Given the description of an element on the screen output the (x, y) to click on. 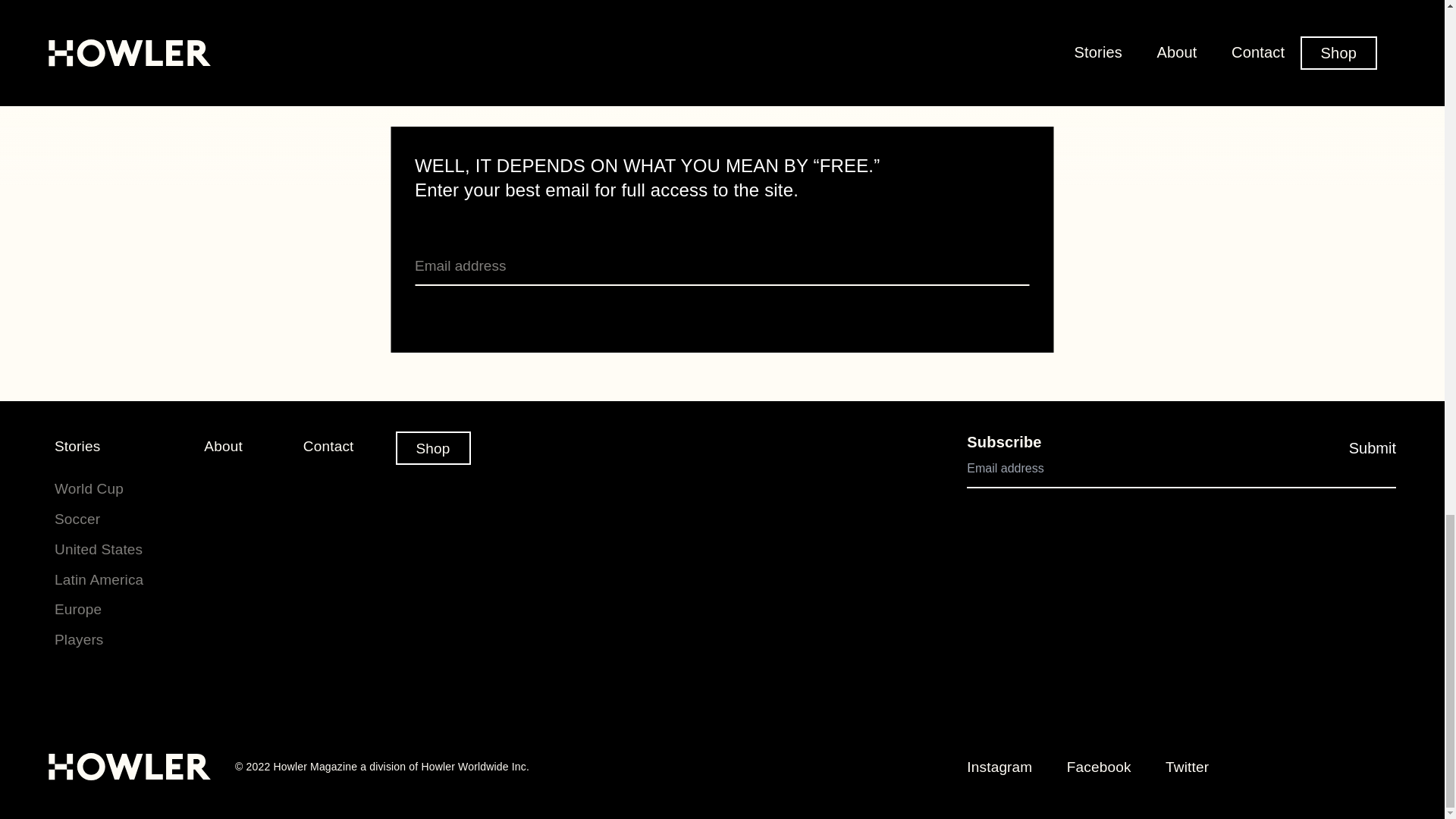
About (223, 446)
Europe (78, 609)
World Cup (89, 488)
Contact (327, 446)
United States (98, 549)
Shop (432, 448)
Submit (1372, 448)
Submit (1372, 448)
Soccer (77, 519)
Latin America (98, 579)
